Given the description of an element on the screen output the (x, y) to click on. 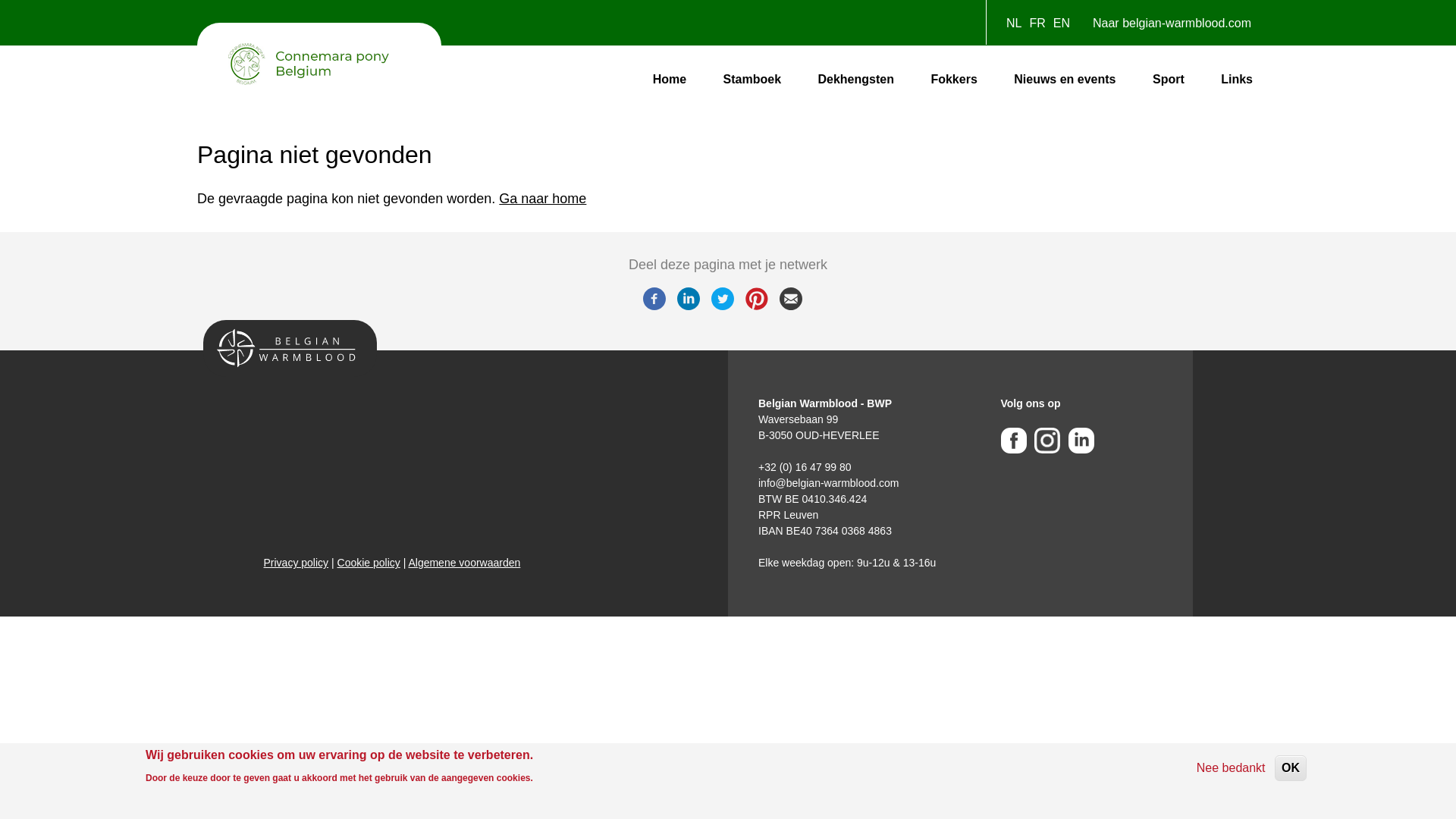
NL Element type: text (1013, 22)
Nieuws en events Element type: text (1064, 79)
EN Element type: text (1061, 22)
Privacy policy Element type: text (296, 562)
Email Element type: hover (790, 305)
Stamboek Element type: text (752, 79)
Sport Element type: text (1168, 79)
Facebook Element type: hover (654, 305)
OK Element type: text (1290, 768)
Home Element type: text (669, 79)
Fokkers Element type: text (953, 79)
Twitter Element type: hover (722, 305)
Pinterest Element type: hover (755, 305)
Nee bedankt Element type: text (1230, 768)
FR Element type: text (1036, 22)
Overslaan en naar de inhoud gaan Element type: text (0, 0)
Cookie policy Element type: text (368, 562)
Dekhengsten Element type: text (855, 79)
Naar belgian-warmblood.com Element type: text (1171, 27)
Linkedin Element type: hover (687, 305)
Ga naar home Element type: text (542, 198)
Links Element type: text (1236, 79)
Algemene voorwaarden Element type: text (463, 562)
